Given the description of an element on the screen output the (x, y) to click on. 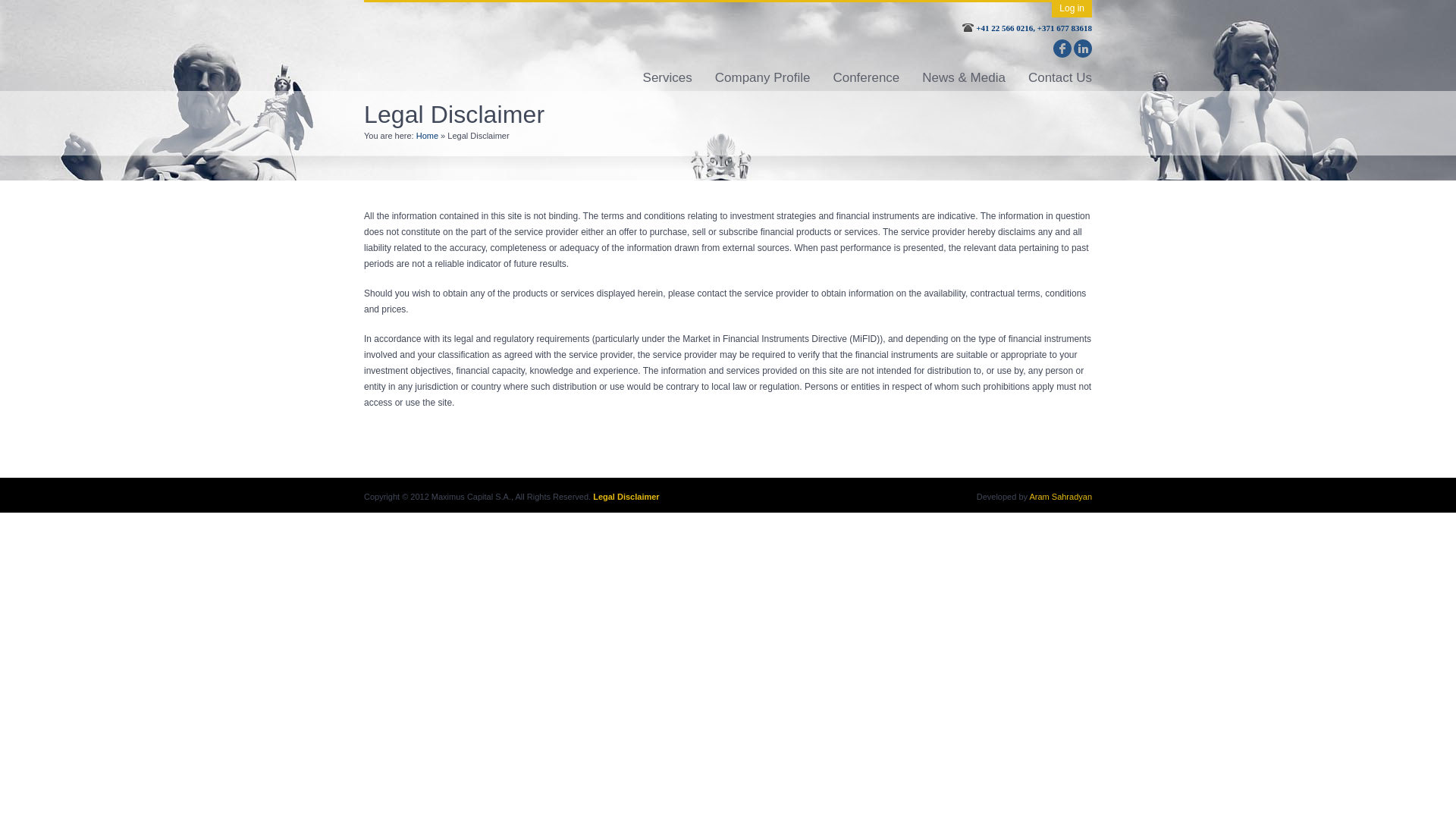
Cbonds (1040, 48)
bbb (1040, 48)
Aram Sahradyan (1060, 496)
facebook (1061, 48)
Conference (866, 77)
Contact Us (1059, 77)
Legal Disclaimer (625, 496)
Services (667, 77)
Souzconsalt (1020, 48)
Company Profile (762, 77)
LinkedIn (1083, 48)
Facebook (1061, 48)
Home (427, 135)
linkedin (1083, 48)
Log in (1071, 8)
